Given the description of an element on the screen output the (x, y) to click on. 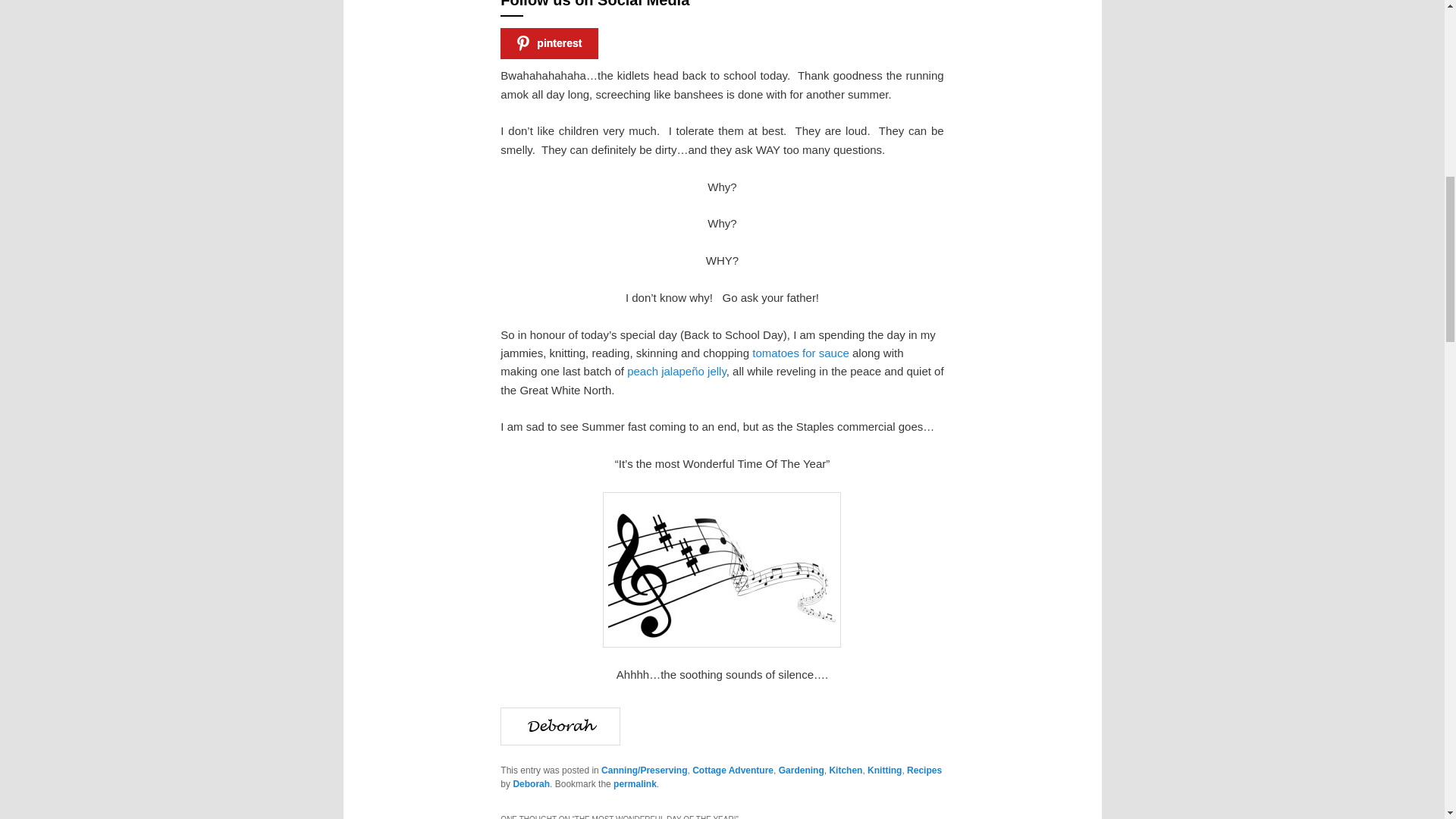
Tom-ay-toe or To-mah-toe? (801, 352)
Permalink to The Most Wonderful Day Of The Year! (634, 783)
